Given the description of an element on the screen output the (x, y) to click on. 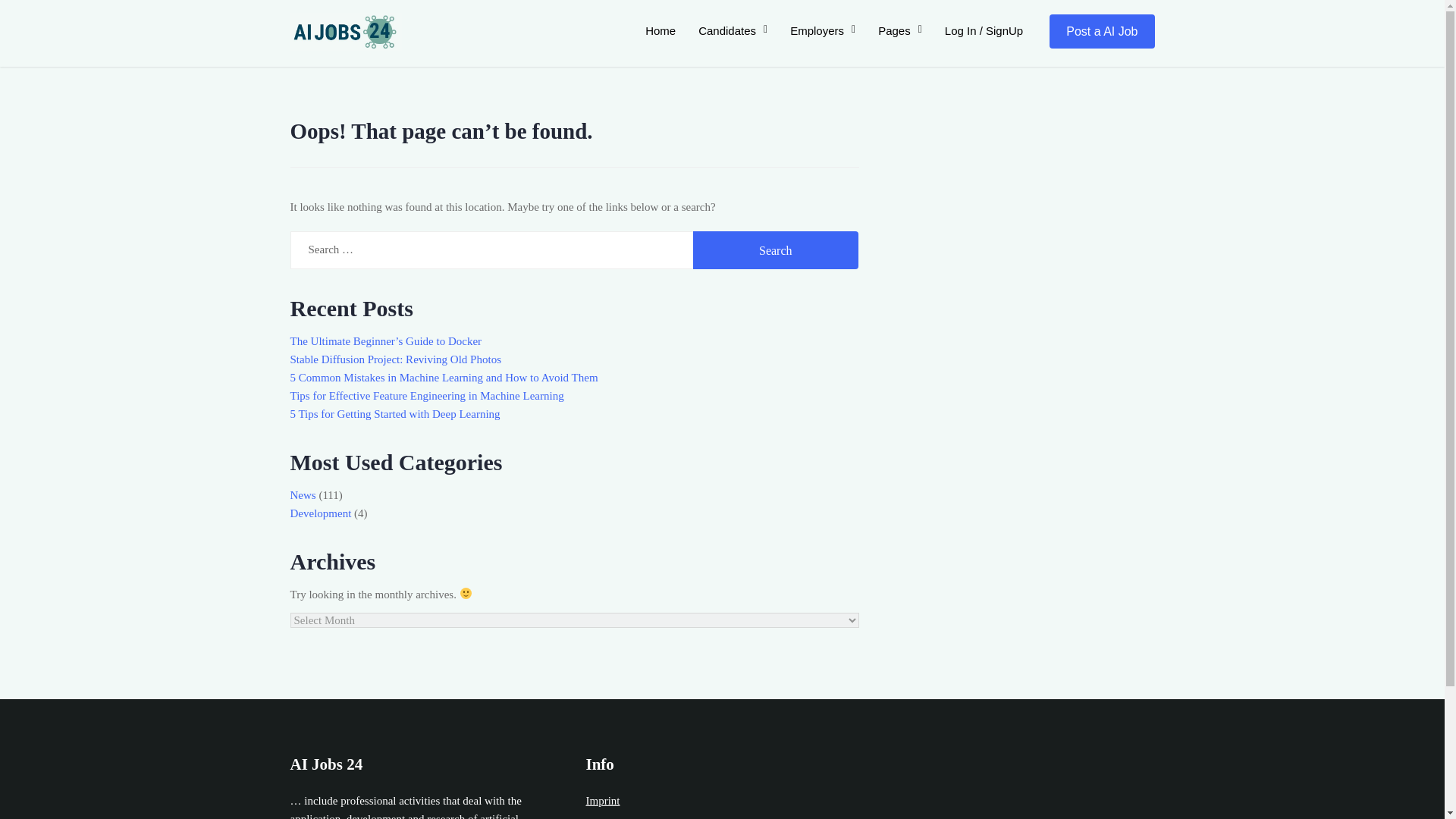
Pages (899, 30)
Search (776, 249)
5 Common Mistakes in Machine Learning and How to Avoid Them (442, 377)
5 Tips for Getting Started with Deep Learning (394, 413)
Search (776, 249)
News (302, 494)
Pages (899, 30)
Imprint (602, 800)
Post a AI Job (1101, 31)
Candidates (732, 30)
Home (660, 30)
Candidates (732, 30)
Search (776, 249)
Development (319, 512)
Stable Diffusion Project: Reviving Old Photos (394, 358)
